Given the description of an element on the screen output the (x, y) to click on. 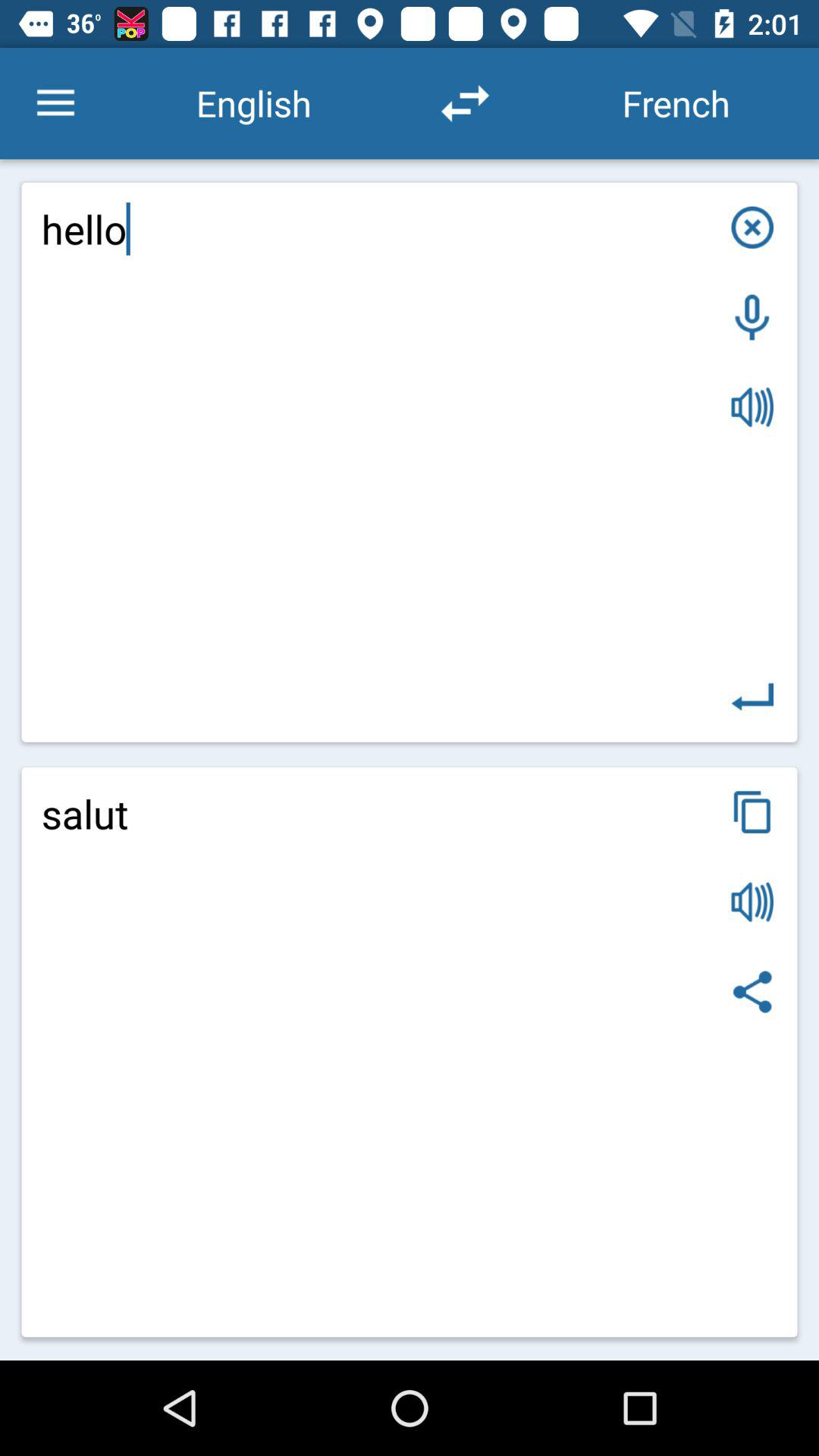
choose the item below hello item (409, 1052)
